Given the description of an element on the screen output the (x, y) to click on. 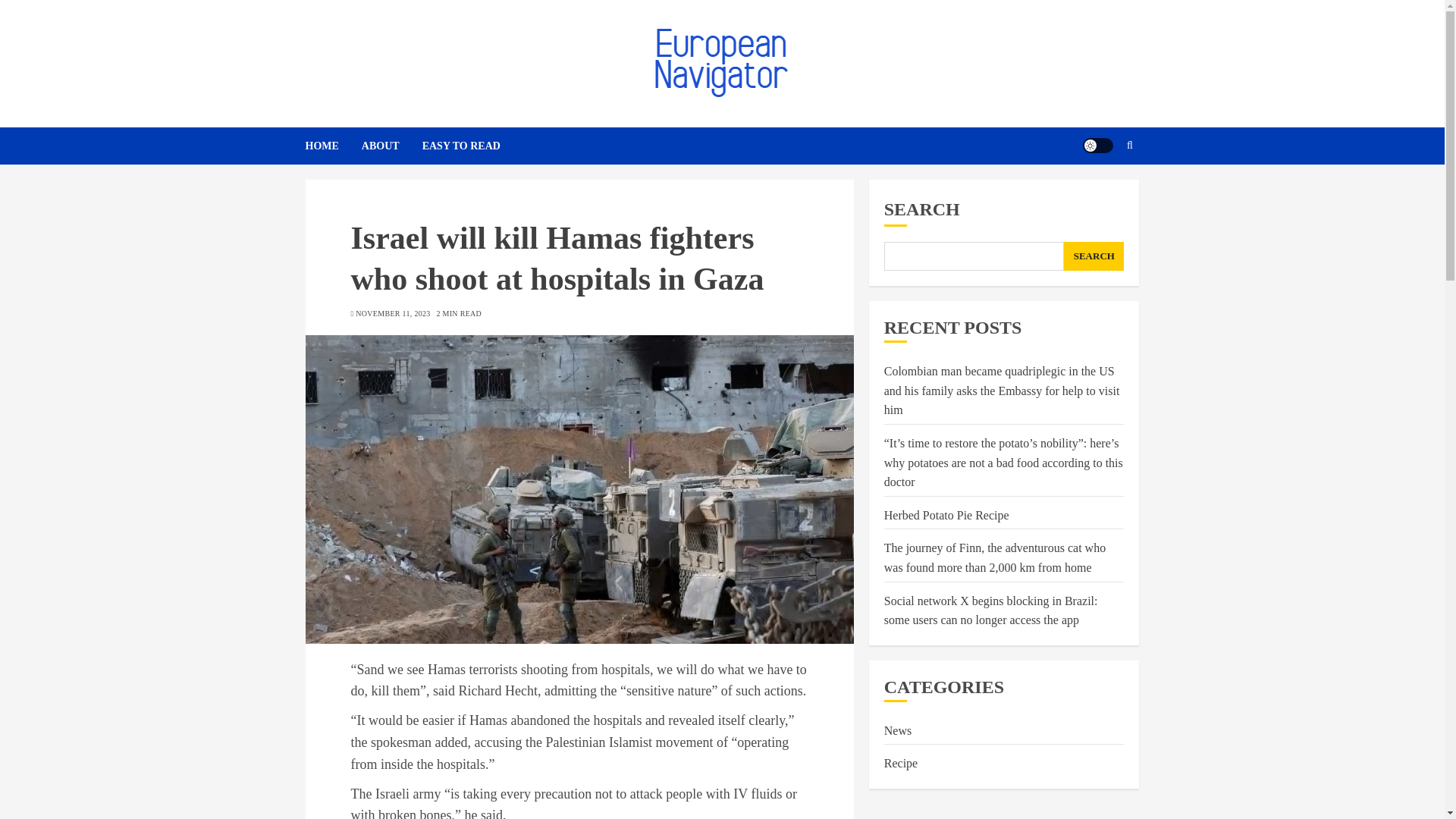
Recipe (900, 763)
News (897, 730)
Herbed Potato Pie Recipe (946, 515)
Search (1099, 191)
EASY TO READ (461, 145)
HOME (332, 145)
ABOUT (391, 145)
